Given the description of an element on the screen output the (x, y) to click on. 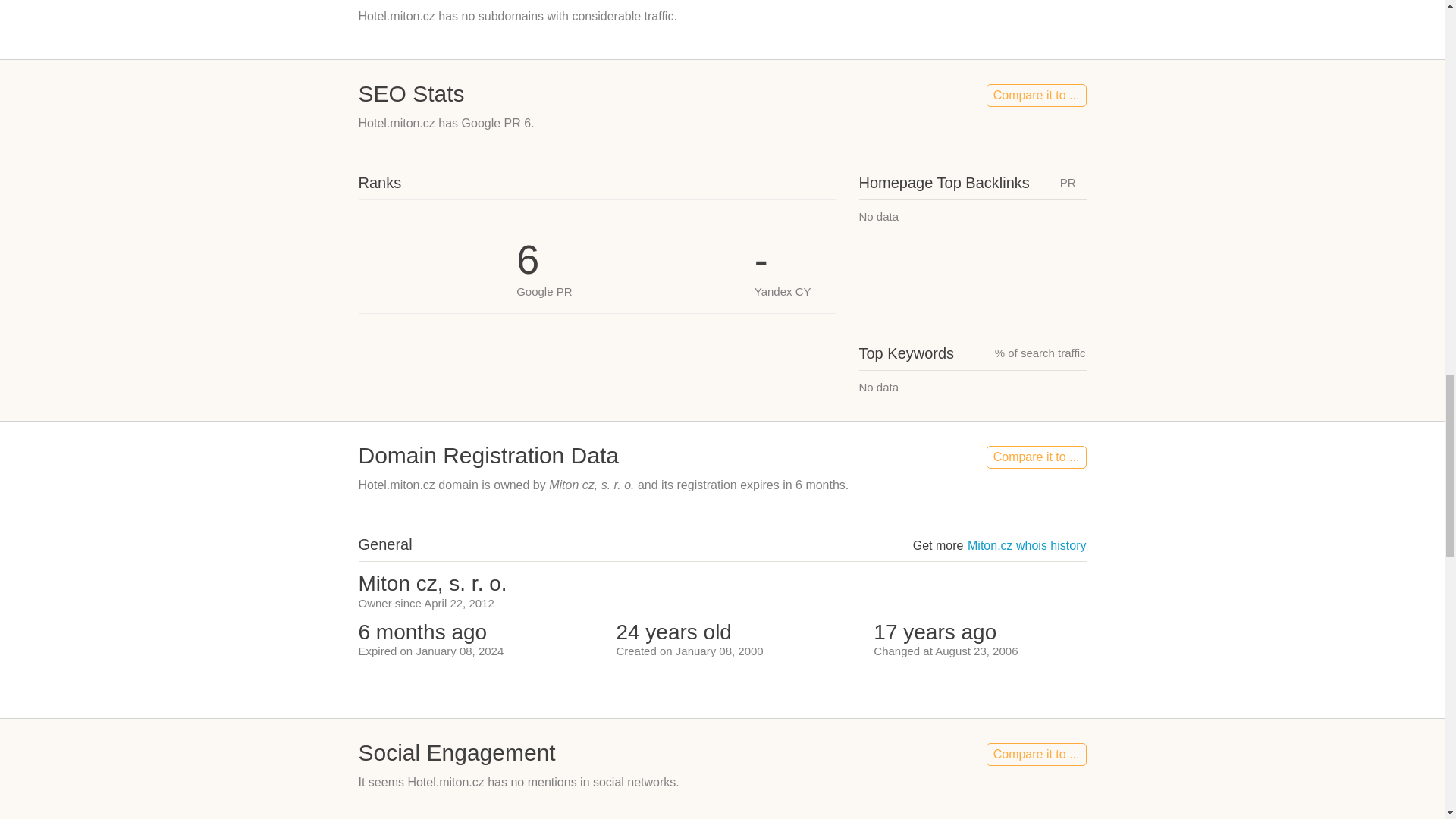
Compare it to ... (1036, 95)
Compare it to ... (1036, 753)
Compare it to ... (1036, 456)
Miton.cz whois history (1027, 545)
